Given the description of an element on the screen output the (x, y) to click on. 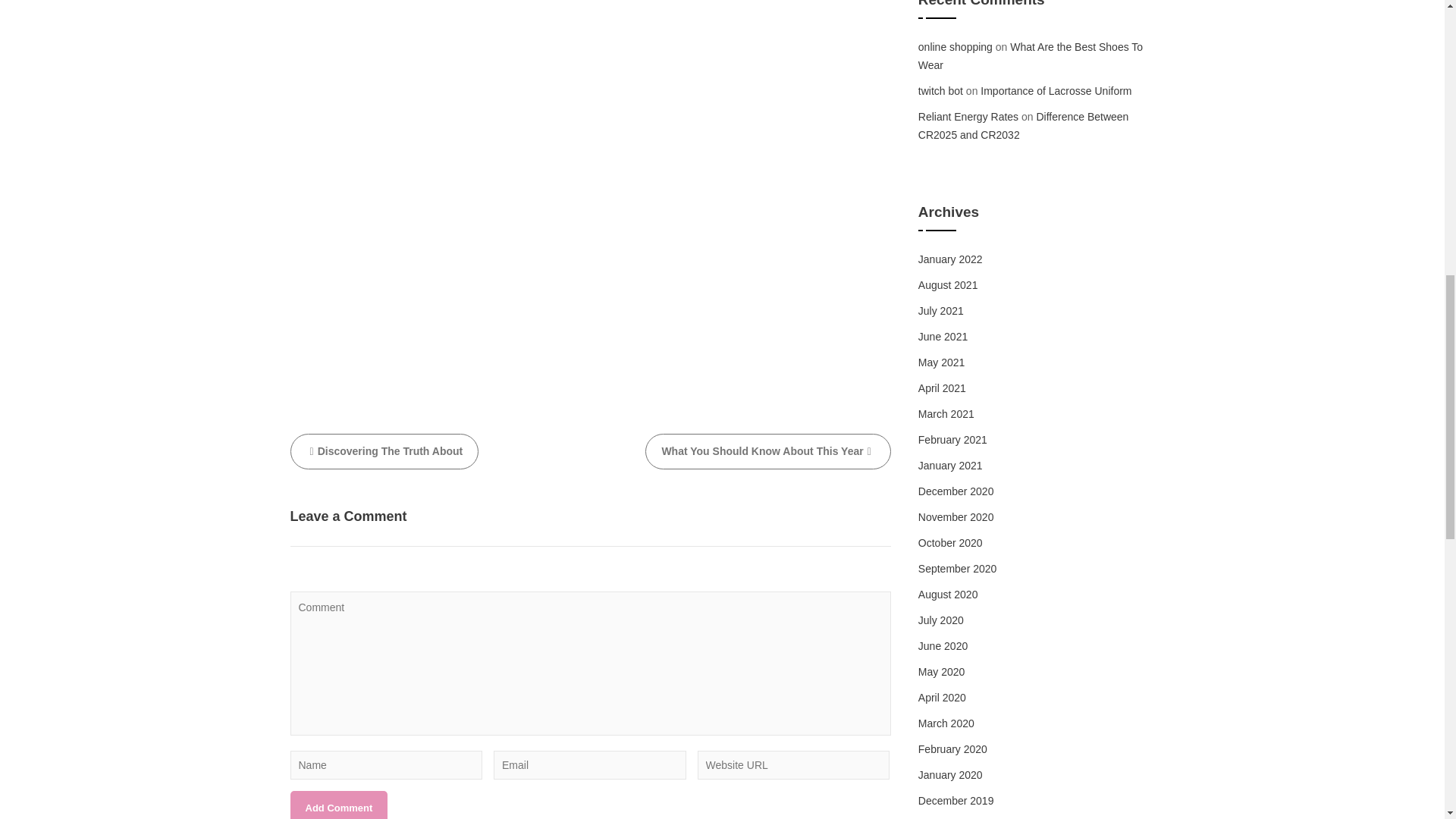
Add Comment (338, 805)
What Are the Best Shoes To Wear (1030, 55)
January 2021 (950, 465)
online shopping (955, 46)
July 2021 (940, 310)
Reliant Energy Rates (967, 116)
February 2021 (952, 439)
Discovering The Truth About (384, 451)
October 2020 (950, 542)
June 2021 (943, 336)
